Given the description of an element on the screen output the (x, y) to click on. 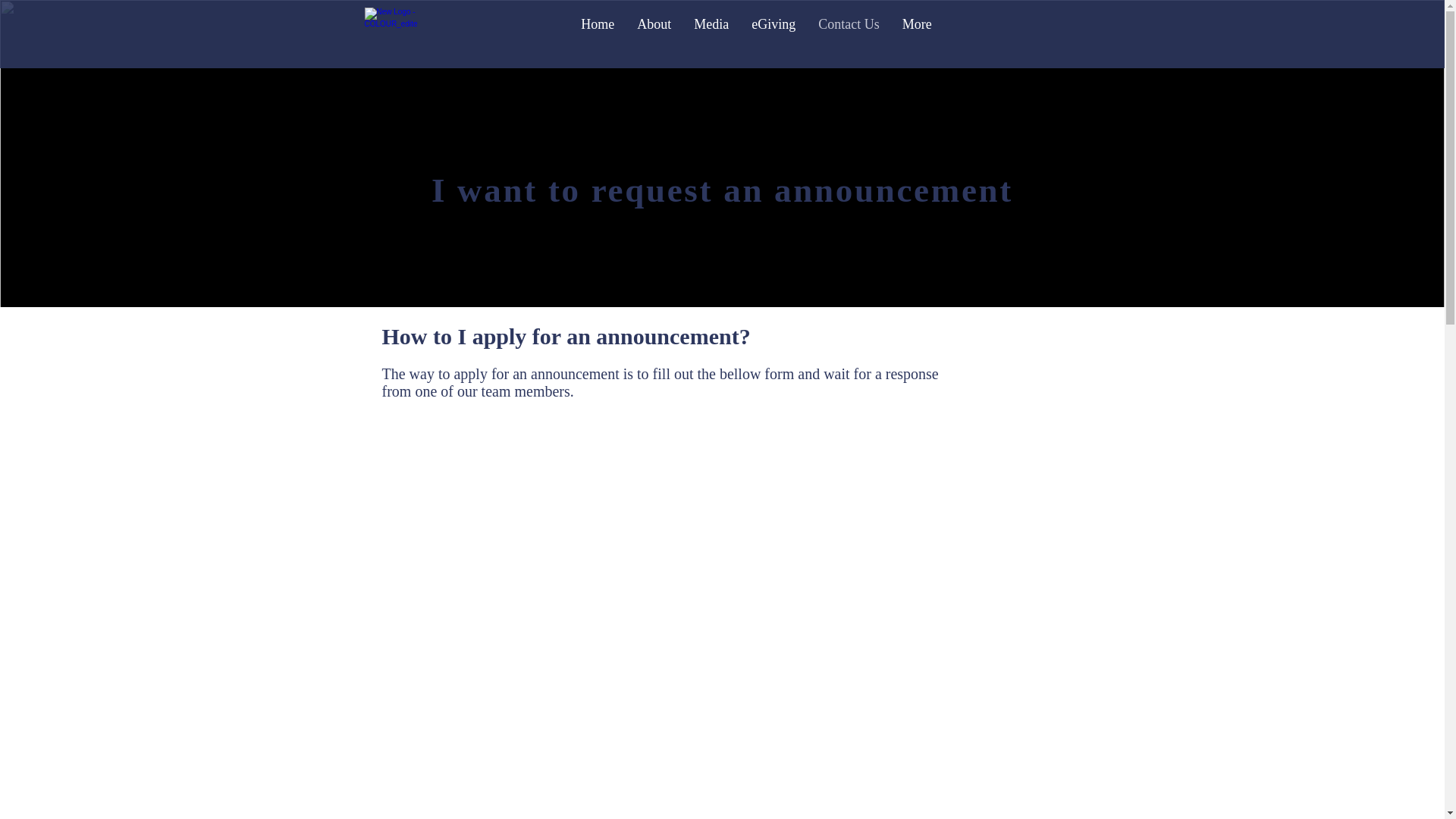
Media Element type: text (711, 34)
Home Element type: text (597, 34)
Contact Us Element type: text (848, 34)
eGiving Element type: text (773, 34)
About Element type: text (653, 34)
